Given the description of an element on the screen output the (x, y) to click on. 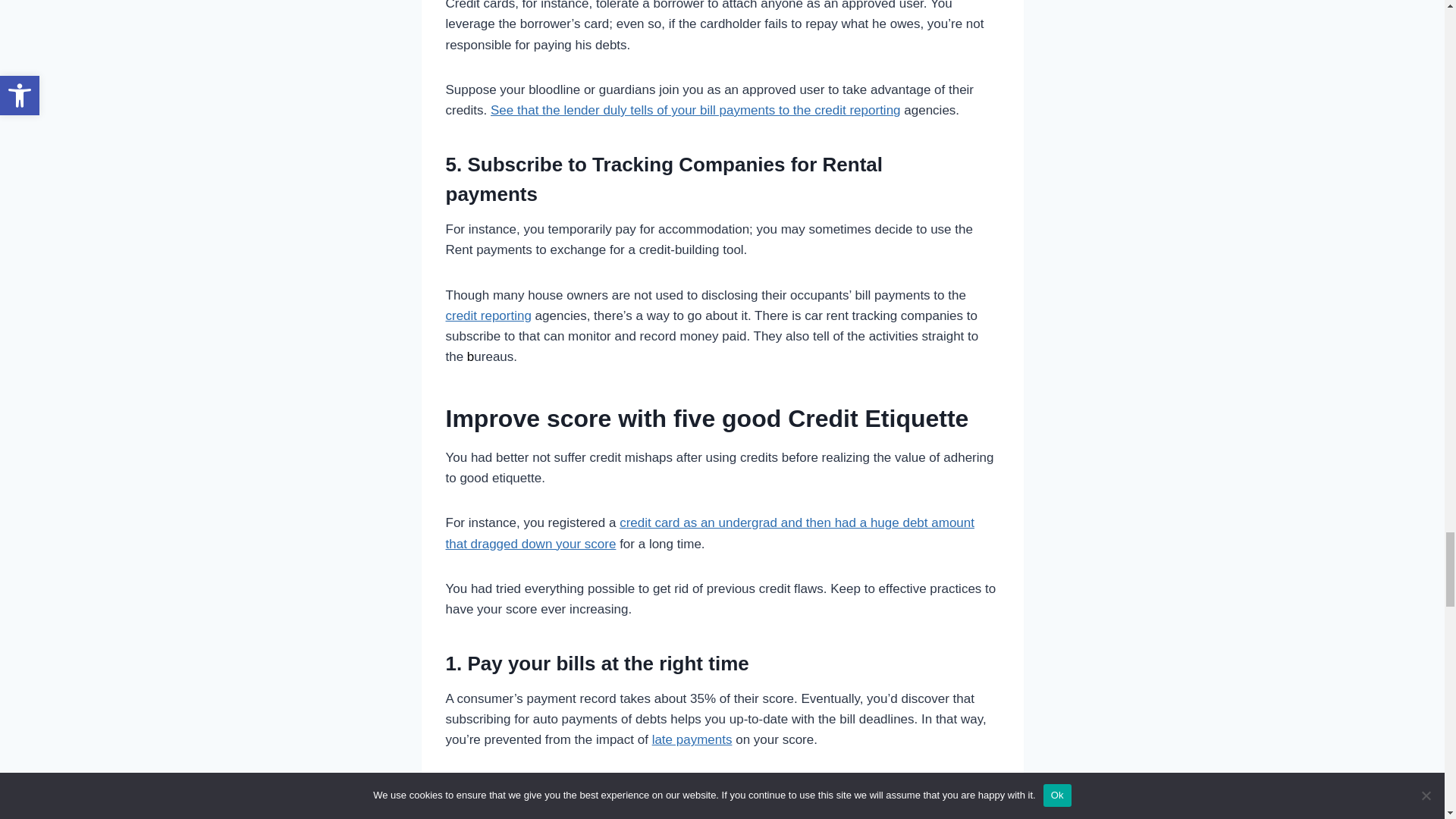
credit reporting (488, 315)
